Given the description of an element on the screen output the (x, y) to click on. 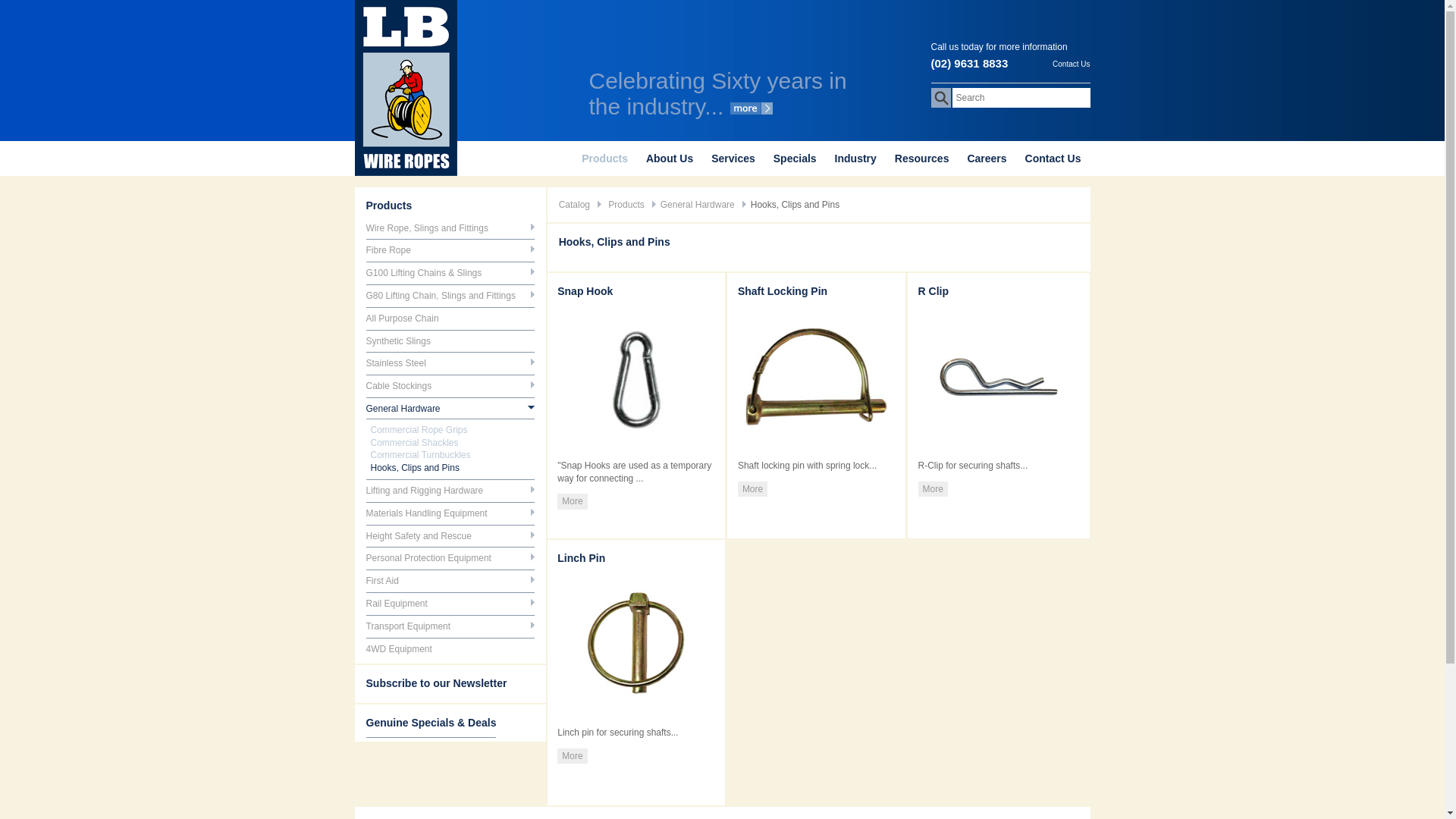
Height Safety and Rescue Element type: text (417, 535)
Commercial Rope Grips Element type: text (418, 429)
4WD Equipment Element type: text (398, 648)
About Us Element type: text (669, 158)
G100 Lifting Chains & Slings Element type: text (423, 272)
Commercial Turnbuckles Element type: text (420, 454)
Hooks, Clips and Pins Element type: text (414, 467)
General Hardware Element type: text (402, 408)
Cable Stockings Element type: text (398, 385)
Synthetic Slings Element type: text (397, 340)
(02) 9631 8833 Element type: text (969, 63)
All Purpose Chain Element type: text (401, 318)
Contact Us Element type: text (1070, 62)
More Element type: text (932, 489)
Fibre Rope Element type: text (387, 249)
Products Element type: text (625, 204)
Contact Us Element type: text (1053, 158)
First Aid Element type: text (381, 580)
Products Element type: text (604, 158)
Specials Element type: text (794, 158)
Lifting and Rigging Hardware Element type: text (424, 490)
General Hardware Element type: text (697, 204)
Transport Equipment Element type: text (407, 626)
Wire Rope, Slings and Fittings Element type: text (426, 227)
Commercial Shackles Element type: text (414, 442)
Materials Handling Equipment Element type: text (425, 513)
Resources Element type: text (921, 158)
More Element type: text (571, 501)
Industry Element type: text (855, 158)
Subscribe to our Newsletter Element type: text (435, 683)
Rail Equipment Element type: text (395, 603)
G80 Lifting Chain, Slings and Fittings Element type: text (439, 295)
Services Element type: text (733, 158)
Genuine Specials & Deals Element type: text (430, 722)
Careers Element type: text (986, 158)
Personal Protection Equipment Element type: text (427, 557)
More Element type: text (571, 756)
Catalog Element type: text (573, 204)
Products Element type: text (388, 205)
Stainless Steel Element type: text (395, 362)
More Element type: text (752, 489)
